Given the description of an element on the screen output the (x, y) to click on. 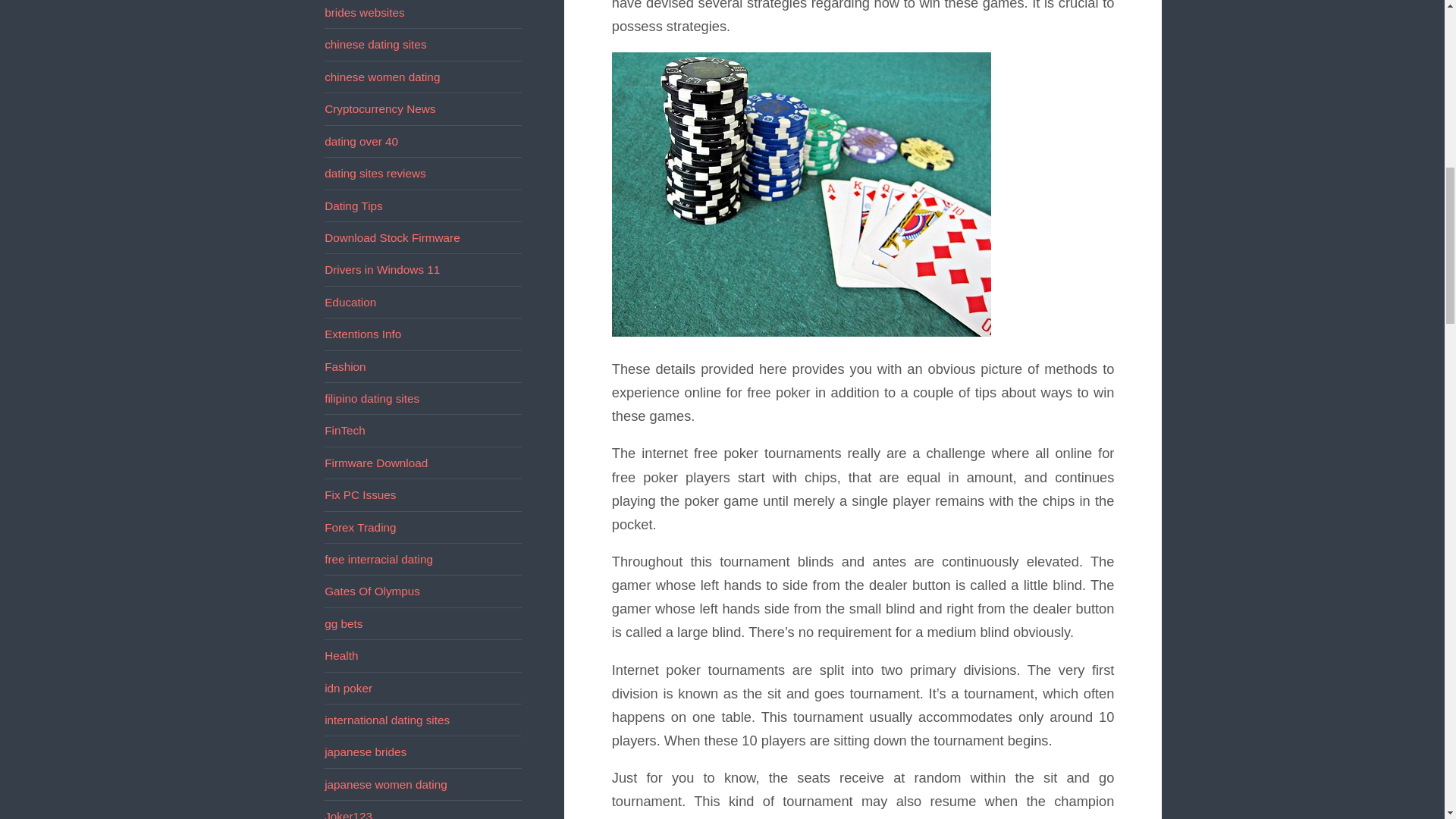
japanese women dating (385, 784)
international dating sites (386, 719)
Download Stock Firmware (392, 237)
filipino dating sites (371, 398)
Cryptocurrency News (379, 108)
idn poker (348, 687)
free interracial dating (378, 558)
Education (349, 301)
Fix PC Issues (360, 494)
Dating Tips (353, 205)
